Given the description of an element on the screen output the (x, y) to click on. 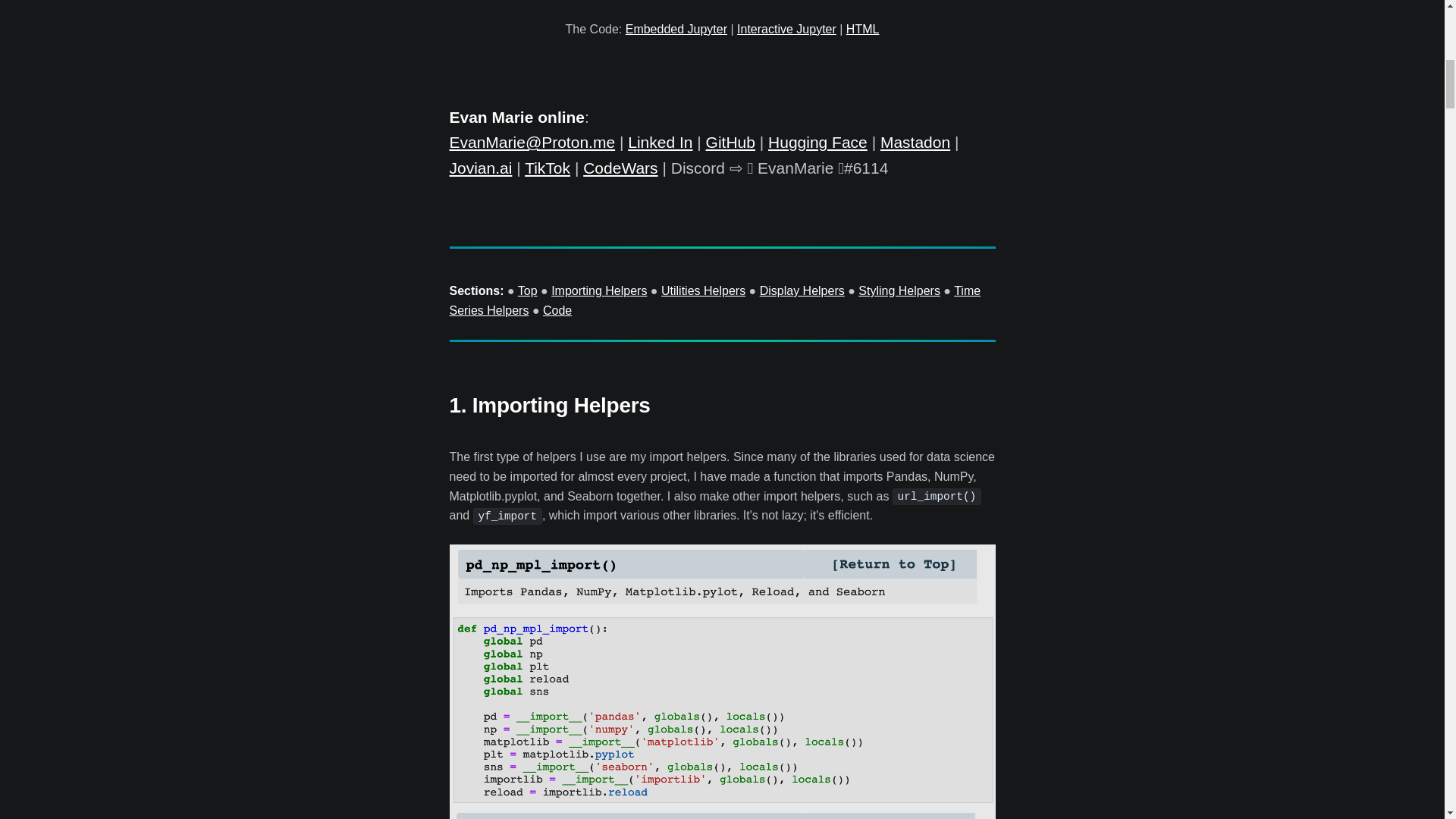
HTML (862, 29)
Linked In (660, 141)
Interactive Jupyter (785, 29)
Jovian.ai (480, 167)
GitHub (730, 141)
Code (557, 309)
Time Series Helpers (713, 300)
TikTok (547, 167)
Display Helpers (802, 290)
CodeWars (620, 167)
